Given the description of an element on the screen output the (x, y) to click on. 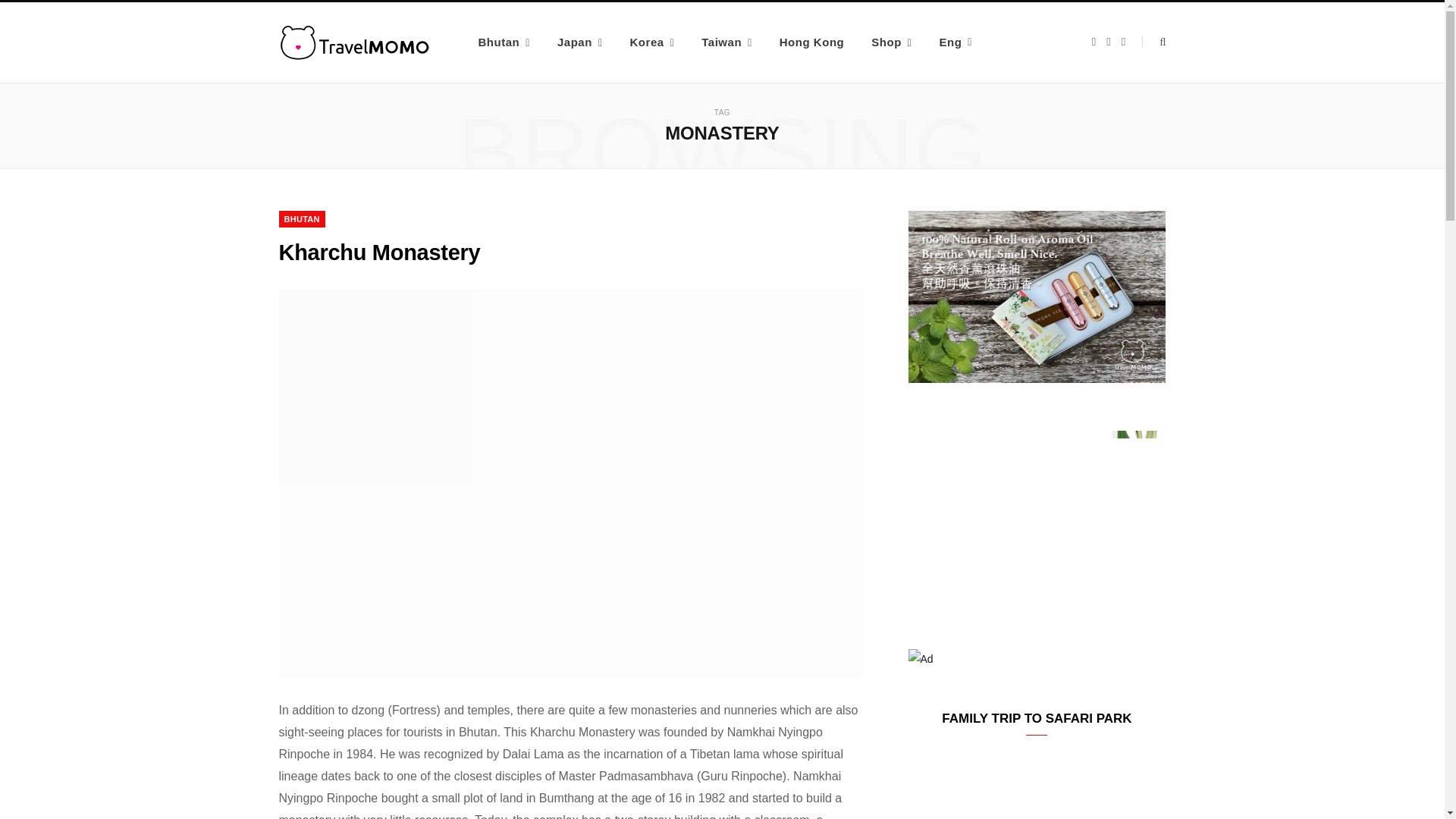
Japan (579, 42)
Travelmomo (354, 42)
Korea (651, 42)
Bhutan (503, 42)
Taiwan (726, 42)
Search (1153, 41)
Hong Kong (812, 42)
Family trip to Safari Park (1037, 790)
